Given the description of an element on the screen output the (x, y) to click on. 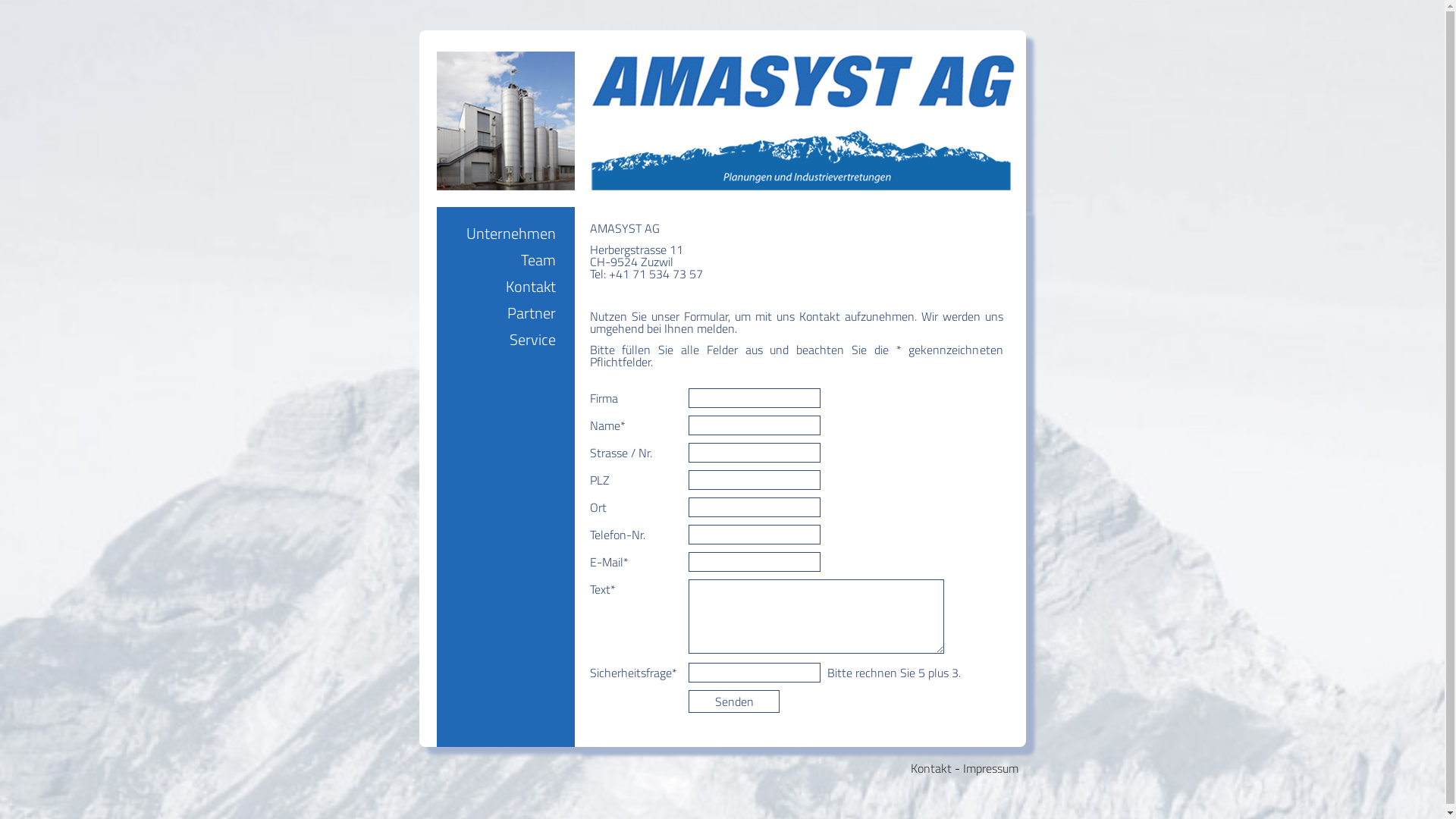
Kontakt Element type: text (930, 768)
Impressum Element type: text (990, 768)
Unternehmen Element type: text (510, 232)
Senden Element type: text (733, 701)
Service Element type: text (532, 339)
Partner Element type: text (530, 312)
Team Element type: text (537, 259)
